Given the description of an element on the screen output the (x, y) to click on. 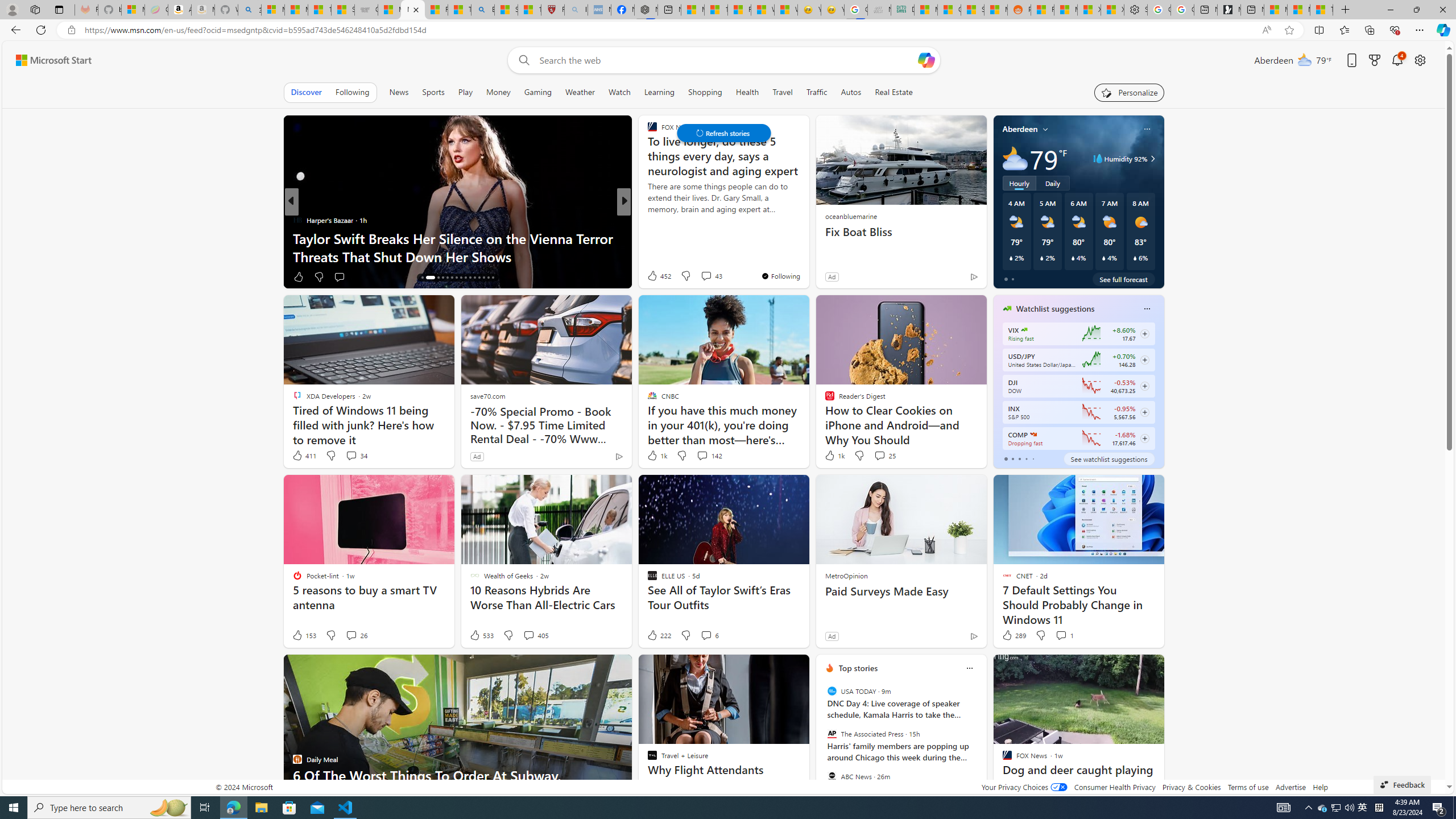
View comments 496 Comment (698, 276)
12 Popular Science Lies that Must be Corrected (529, 9)
Shopping (705, 92)
SlashGear (647, 238)
View comments 4 Comment (705, 276)
Moneywise (647, 219)
